Given the description of an element on the screen output the (x, y) to click on. 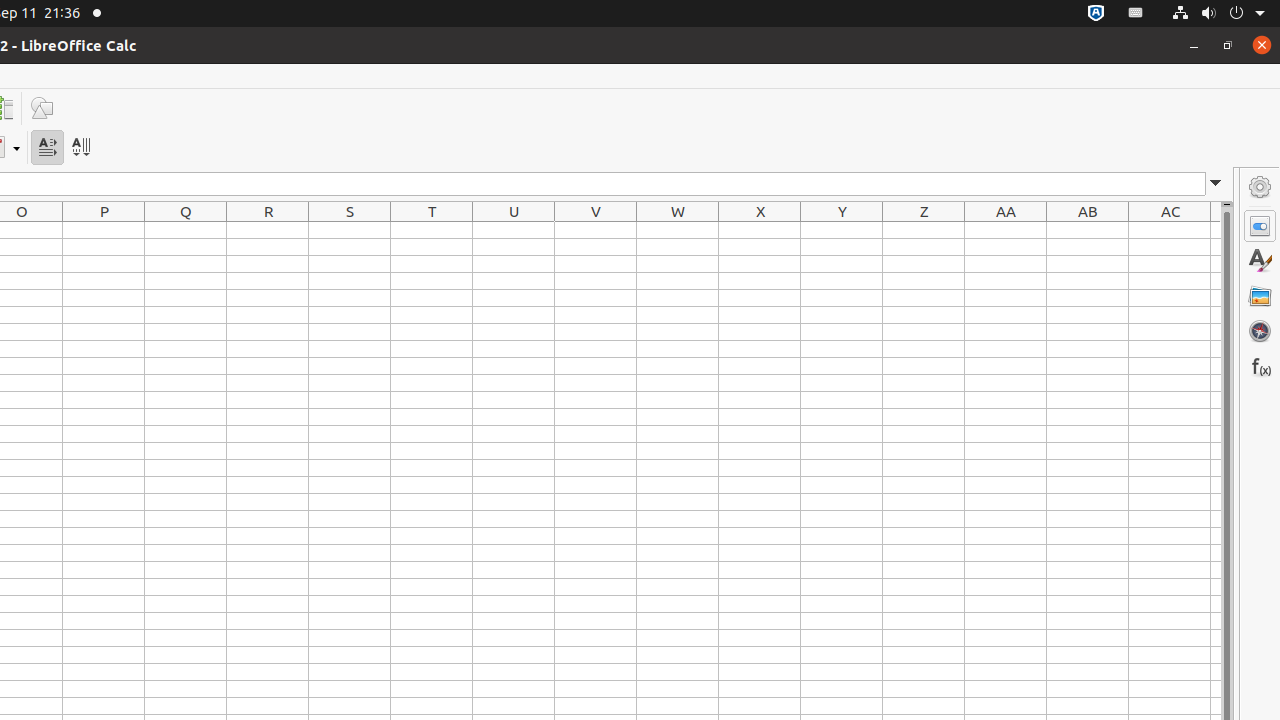
Navigator Element type: radio-button (1260, 331)
AC1 Element type: table-cell (1170, 230)
Gallery Element type: radio-button (1260, 296)
AD1 Element type: table-cell (1216, 230)
U1 Element type: table-cell (514, 230)
